Given the description of an element on the screen output the (x, y) to click on. 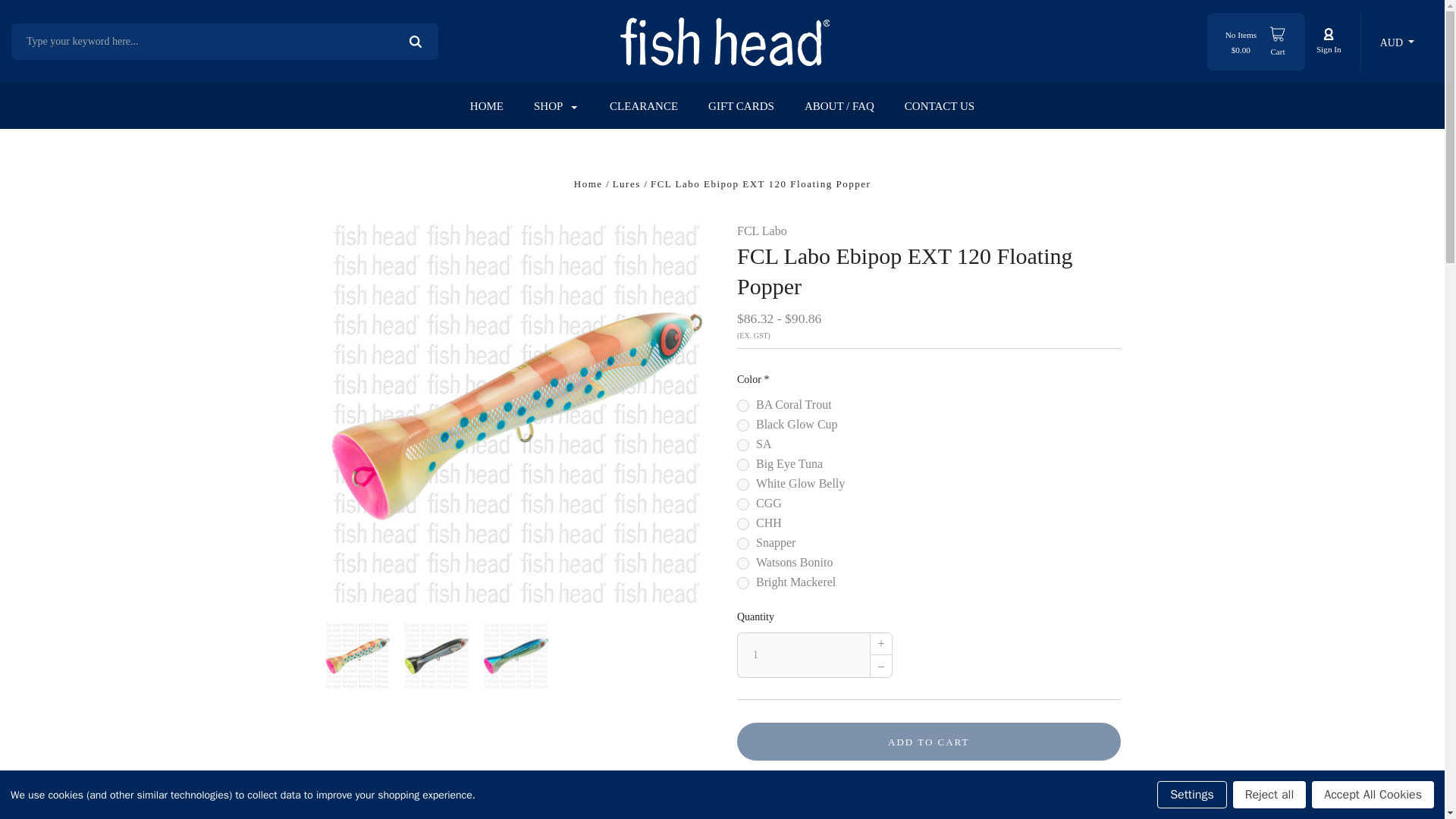
4399 (742, 484)
HOME (486, 105)
FCL Labo Ebipop EXT 120 Floating Popper (357, 655)
11239 (742, 582)
1 (802, 655)
SHOP (555, 105)
10454 (742, 503)
7245 (742, 464)
FCL Labo Ebipop EXT 120 Floating Popper (435, 655)
10456 (742, 543)
2951 (742, 425)
7500 (742, 405)
10458 (742, 563)
FCL Labo Ebipop EXT 120 Floating Popper (515, 655)
5010 (742, 444)
